Given the description of an element on the screen output the (x, y) to click on. 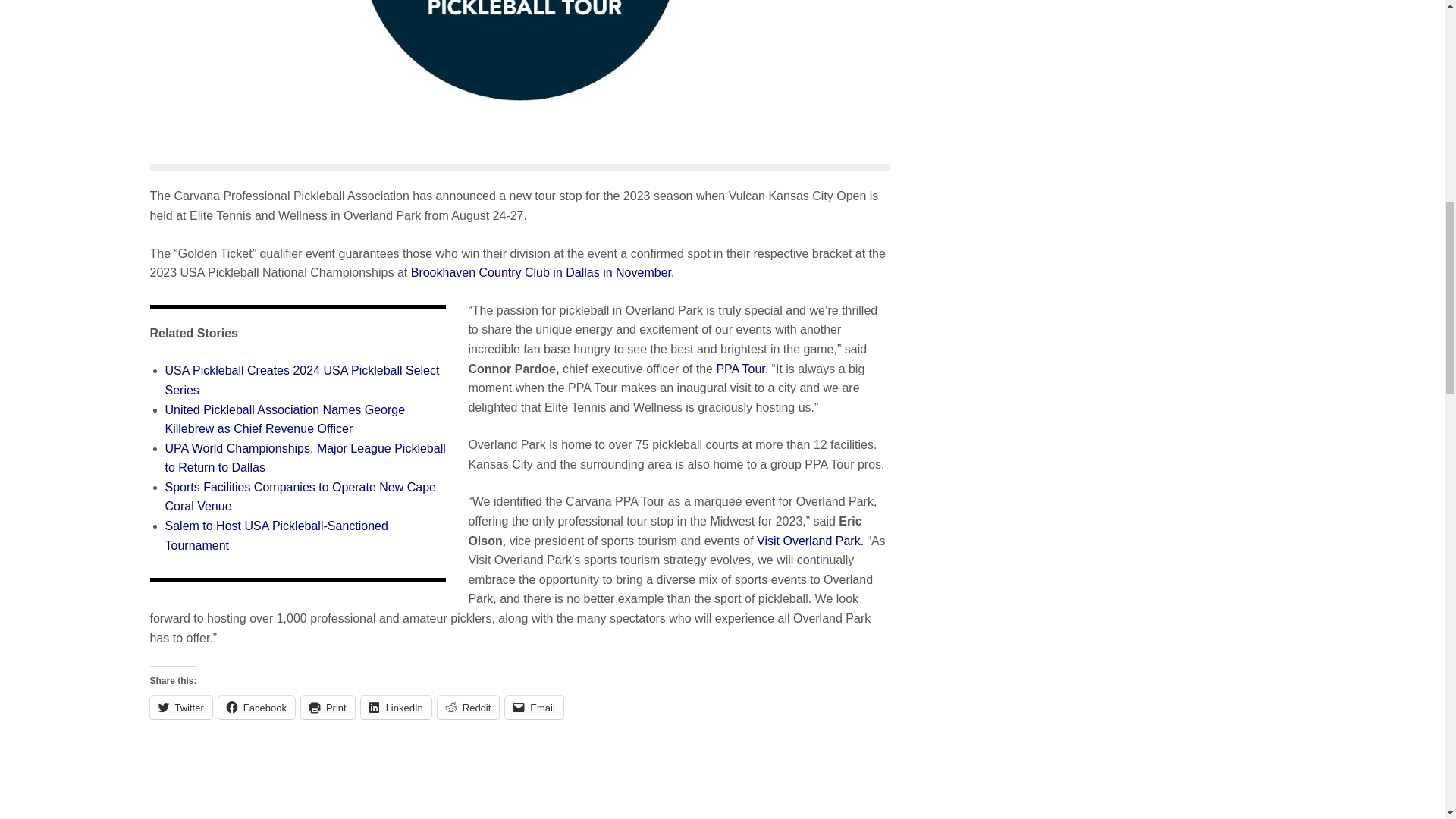
Click to share on Facebook (256, 707)
3rd party ad content (276, 779)
Click to share on LinkedIn (395, 707)
Click to share on Twitter (180, 707)
Click to print (328, 707)
Click to email a link to a friend (534, 707)
3rd party ad content (555, 779)
Click to share on Reddit (468, 707)
